Given the description of an element on the screen output the (x, y) to click on. 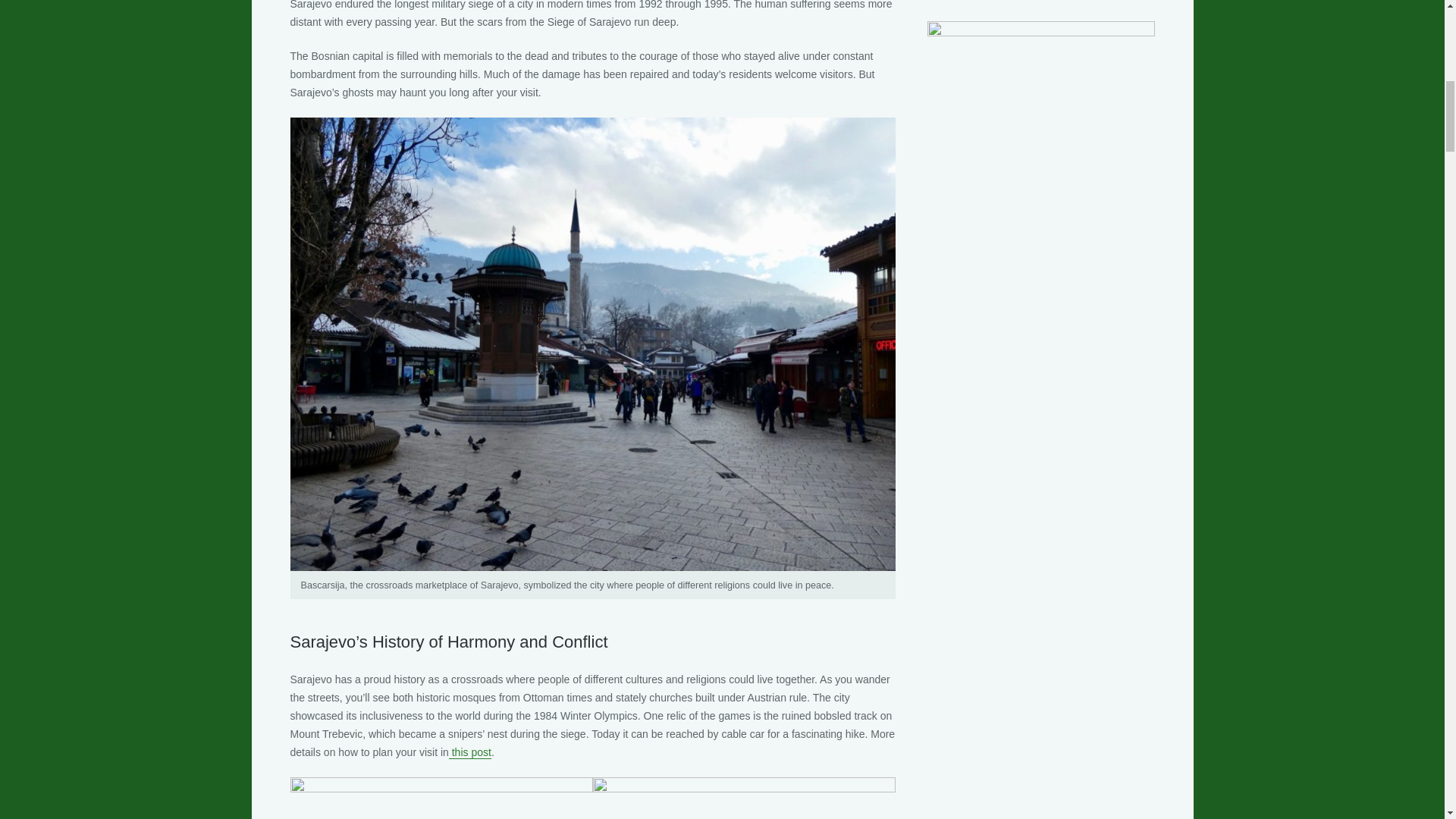
this post (470, 752)
Back to top (1413, 22)
